Given the description of an element on the screen output the (x, y) to click on. 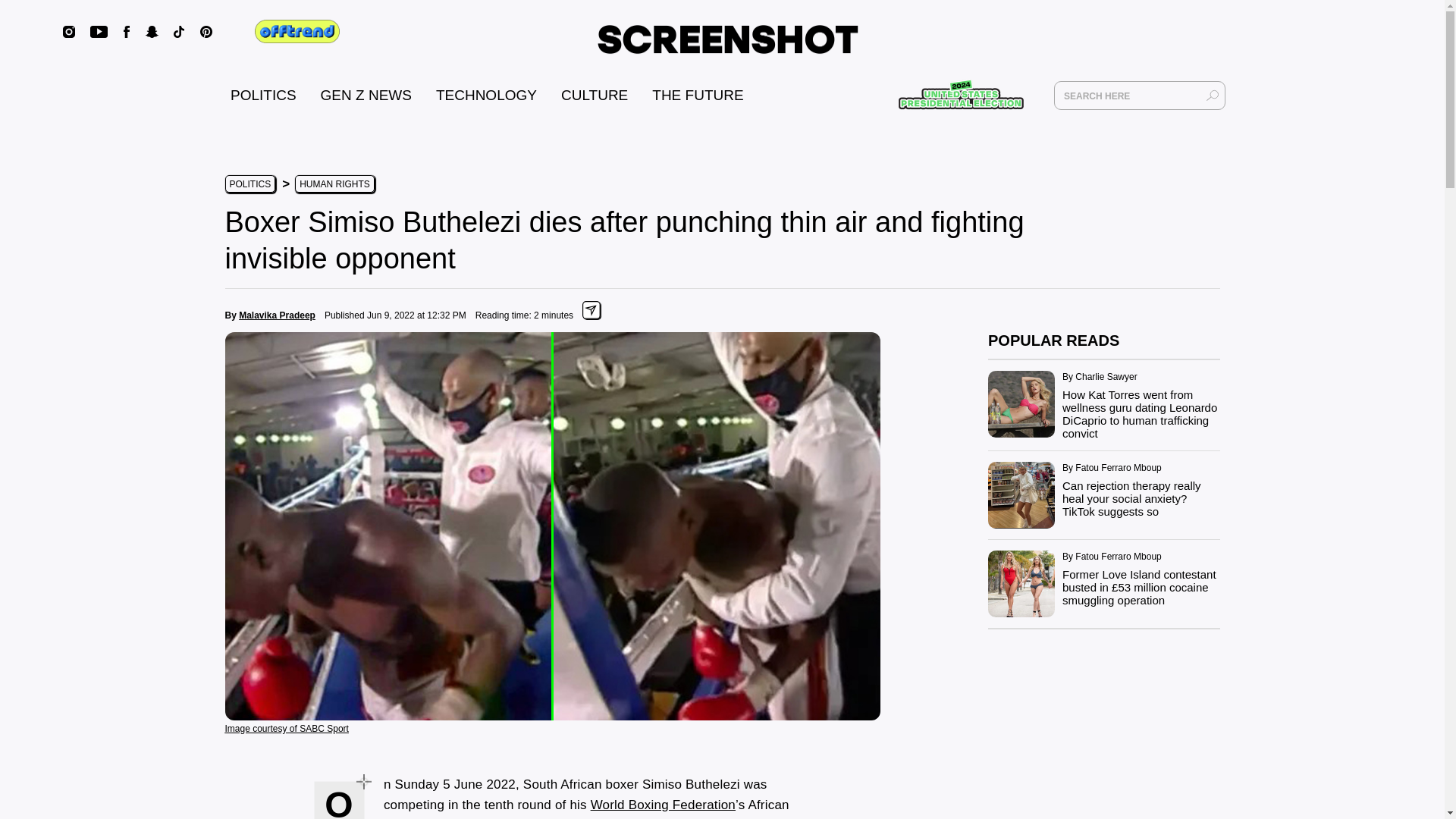
Malavika Pradeep (276, 315)
THE FUTURE (697, 94)
POLITICS (263, 94)
CULTURE (593, 94)
TECHNOLOGY (486, 94)
HUMAN RIGHTS (334, 184)
World Boxing Federation (663, 804)
GEN Z NEWS (366, 94)
POLITICS (249, 184)
Image courtesy of SABC Sport (285, 727)
